Given the description of an element on the screen output the (x, y) to click on. 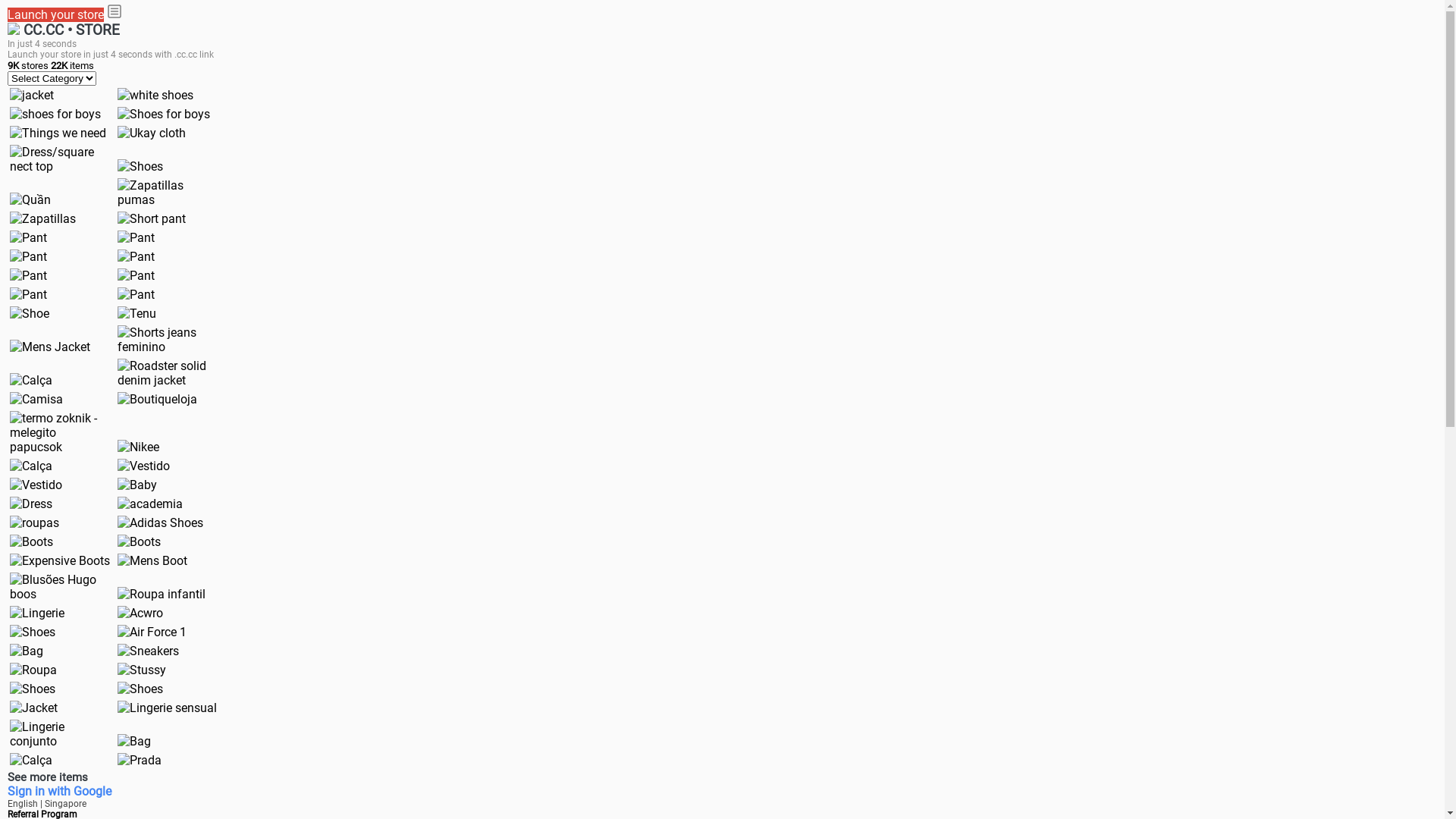
Bag Element type: hover (26, 650)
Bag Element type: hover (133, 741)
Short pant Element type: hover (151, 218)
academia Element type: hover (149, 503)
Shoe Element type: hover (29, 313)
Roadster solid denim jacket Element type: hover (167, 372)
termo zoknik - melegito papucsok Element type: hover (59, 432)
Shoes Element type: hover (32, 688)
Sign in with Google Element type: text (59, 791)
Acwro Element type: hover (140, 612)
Dress/square nect top Element type: hover (59, 158)
Pant Element type: hover (135, 275)
roupas Element type: hover (34, 522)
Shoes Element type: hover (140, 166)
Tenu Element type: hover (136, 313)
Pant Element type: hover (28, 294)
Pant Element type: hover (28, 237)
Air Force 1 Element type: hover (151, 631)
Lingerie conjunto Element type: hover (59, 733)
Roupa Element type: hover (32, 669)
Ukay cloth Element type: hover (151, 132)
Pant Element type: hover (28, 256)
Jacket Element type: hover (33, 707)
Mens Jacket Element type: hover (49, 346)
See more items Element type: text (47, 776)
Sneakers Element type: hover (147, 650)
Boots Element type: hover (31, 541)
Pant Element type: hover (135, 237)
Singapore Element type: text (65, 803)
Shoes Element type: hover (32, 631)
Lingerie Element type: hover (36, 612)
Boutiqueloja Element type: hover (157, 399)
Stussy Element type: hover (141, 669)
Lingerie sensual Element type: hover (166, 707)
Baby Element type: hover (136, 484)
Prada Element type: hover (139, 760)
Pant Element type: hover (28, 275)
shoes for boys Element type: hover (54, 113)
Shoes for boys Element type: hover (163, 113)
English Element type: text (23, 803)
Roupa infantil Element type: hover (161, 593)
Launch your store Element type: text (55, 14)
Shoes Element type: hover (140, 688)
Vestido Element type: hover (35, 484)
Pant Element type: hover (135, 294)
jacket Element type: hover (31, 94)
white shoes Element type: hover (155, 94)
Camisa Element type: hover (35, 399)
Mens Boot Element type: hover (152, 560)
Zapatillas pumas Element type: hover (167, 192)
Boots Element type: hover (138, 541)
Adidas Shoes Element type: hover (160, 522)
Pant Element type: hover (135, 256)
Nikee Element type: hover (138, 446)
Dress Element type: hover (30, 503)
Expensive Boots Element type: hover (59, 560)
Things we need Element type: hover (57, 132)
Shorts jeans feminino Element type: hover (167, 339)
Zapatillas Element type: hover (42, 218)
Vestido Element type: hover (143, 465)
